Given the description of an element on the screen output the (x, y) to click on. 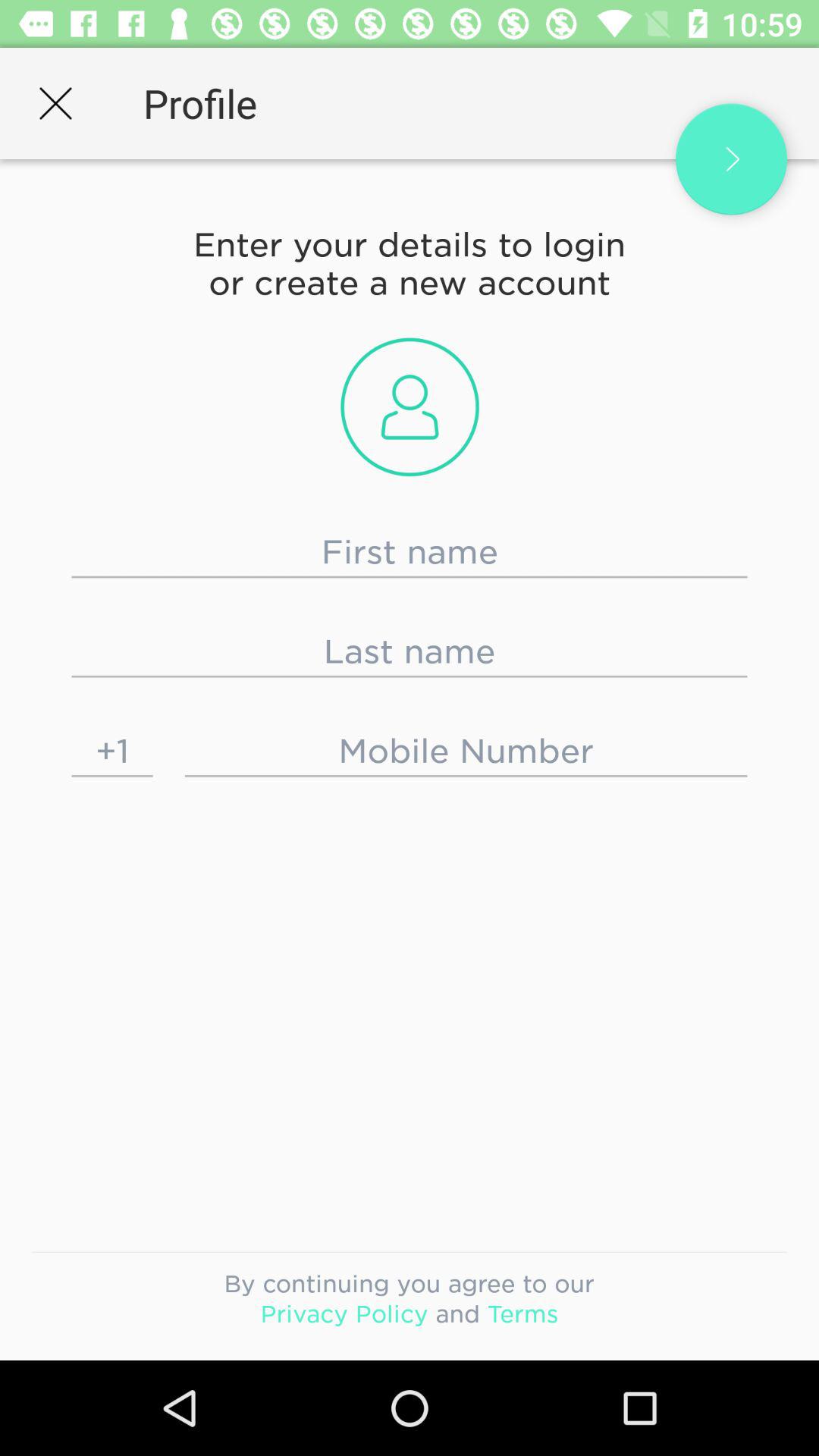
last name (409, 651)
